Given the description of an element on the screen output the (x, y) to click on. 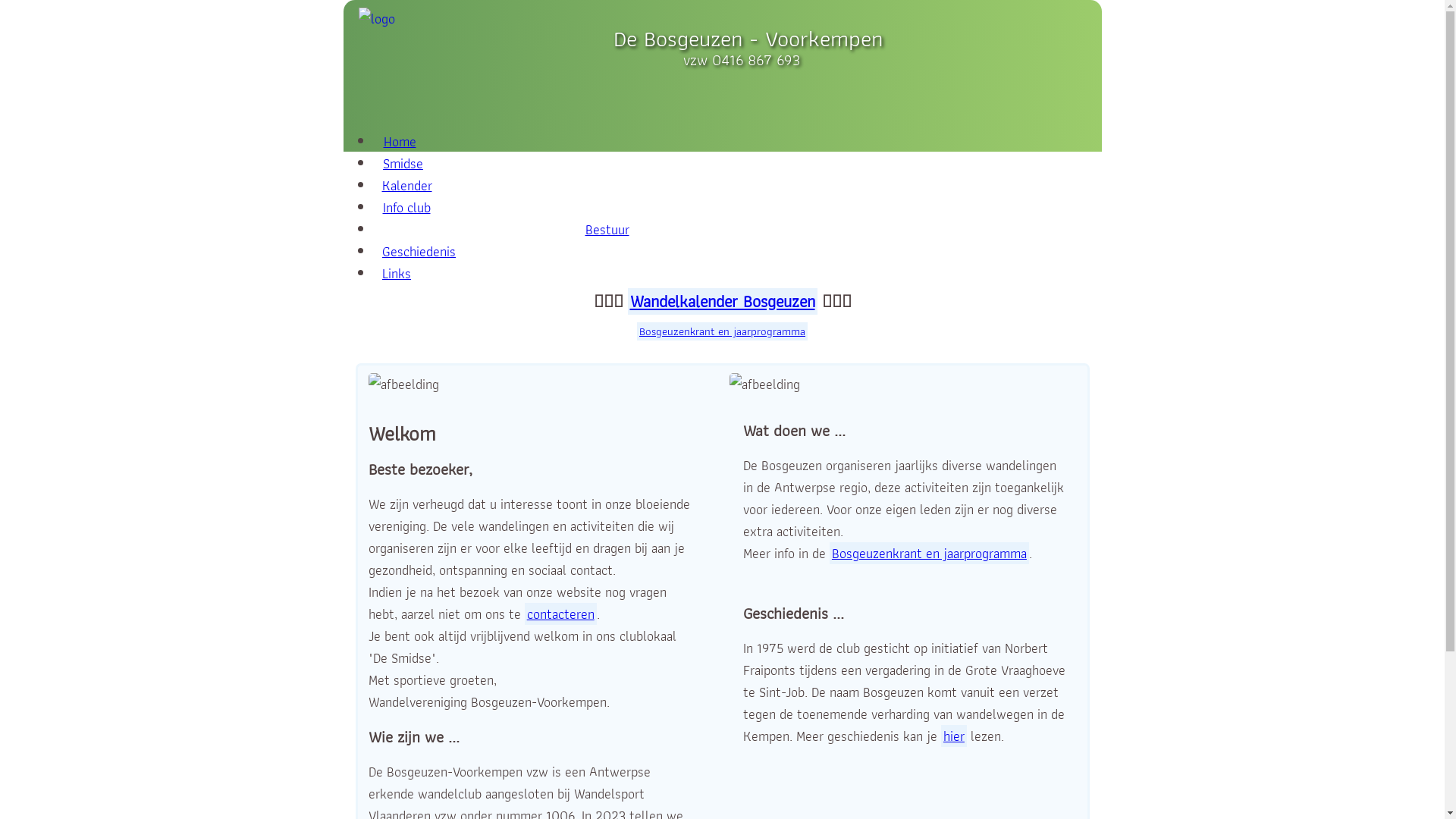
Wandelkalender Bosgeuzen Element type: text (722, 301)
Info club Element type: text (405, 207)
Home Element type: text (399, 141)
Geschiedenis Element type: text (418, 251)
hier Element type: text (953, 735)
Kalender Element type: text (407, 185)
Links Element type: text (396, 273)
Bosgeuzenkrant en jaarprogramma Element type: text (722, 331)
contacteren Element type: text (560, 613)
Smidse Element type: text (402, 163)
Bosgeuzenkrant en jaarprogramma Element type: text (929, 553)
Bestuur Element type: text (607, 229)
